Given the description of an element on the screen output the (x, y) to click on. 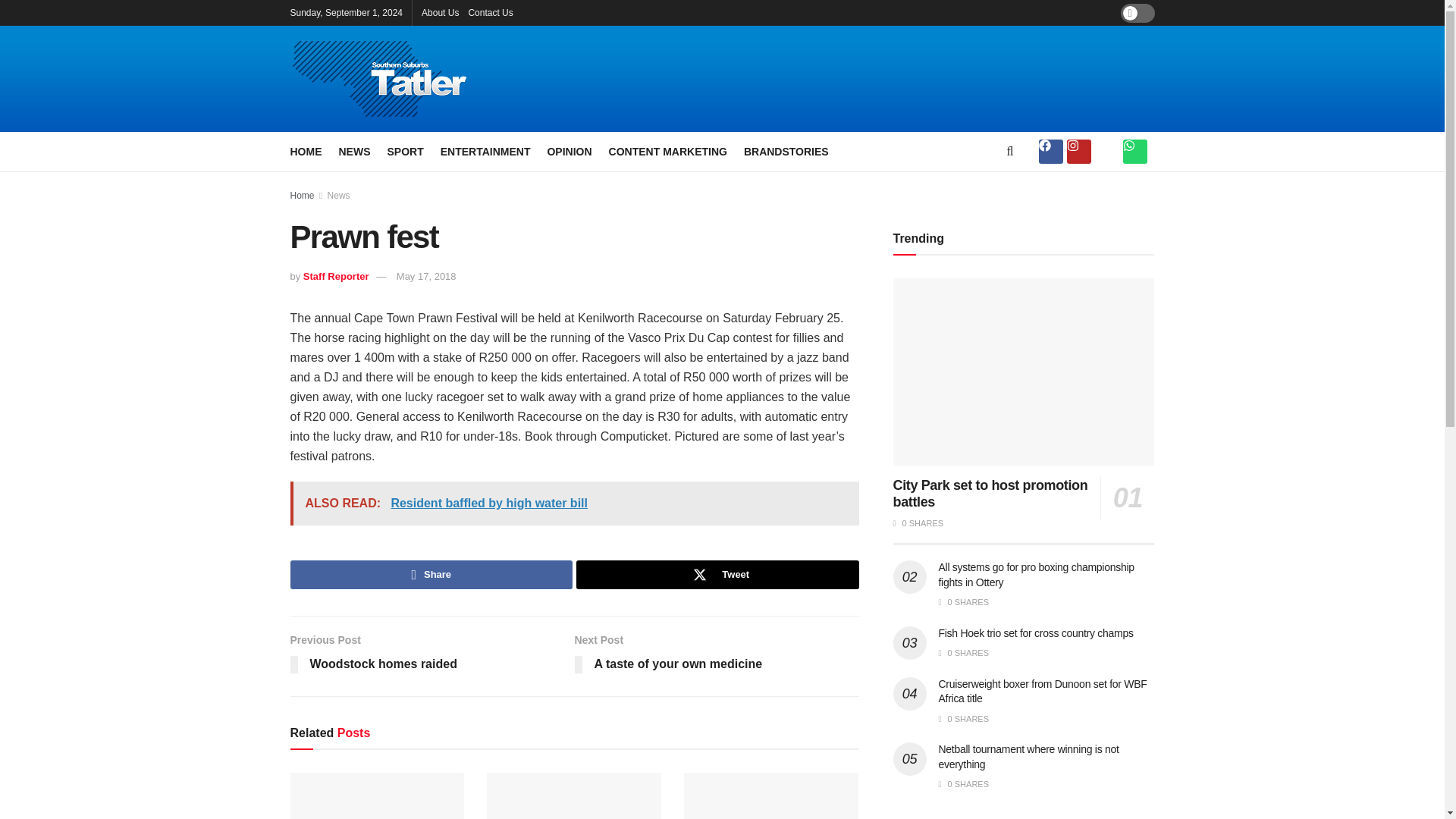
ENTERTAINMENT (486, 151)
ALSO READ:   Resident baffled by high water bill (574, 503)
News (338, 195)
HOME (305, 151)
May 17, 2018 (426, 276)
OPINION (569, 151)
Staff Reporter (335, 276)
SPORT (405, 151)
About Us (440, 12)
BRANDSTORIES (786, 151)
